Given the description of an element on the screen output the (x, y) to click on. 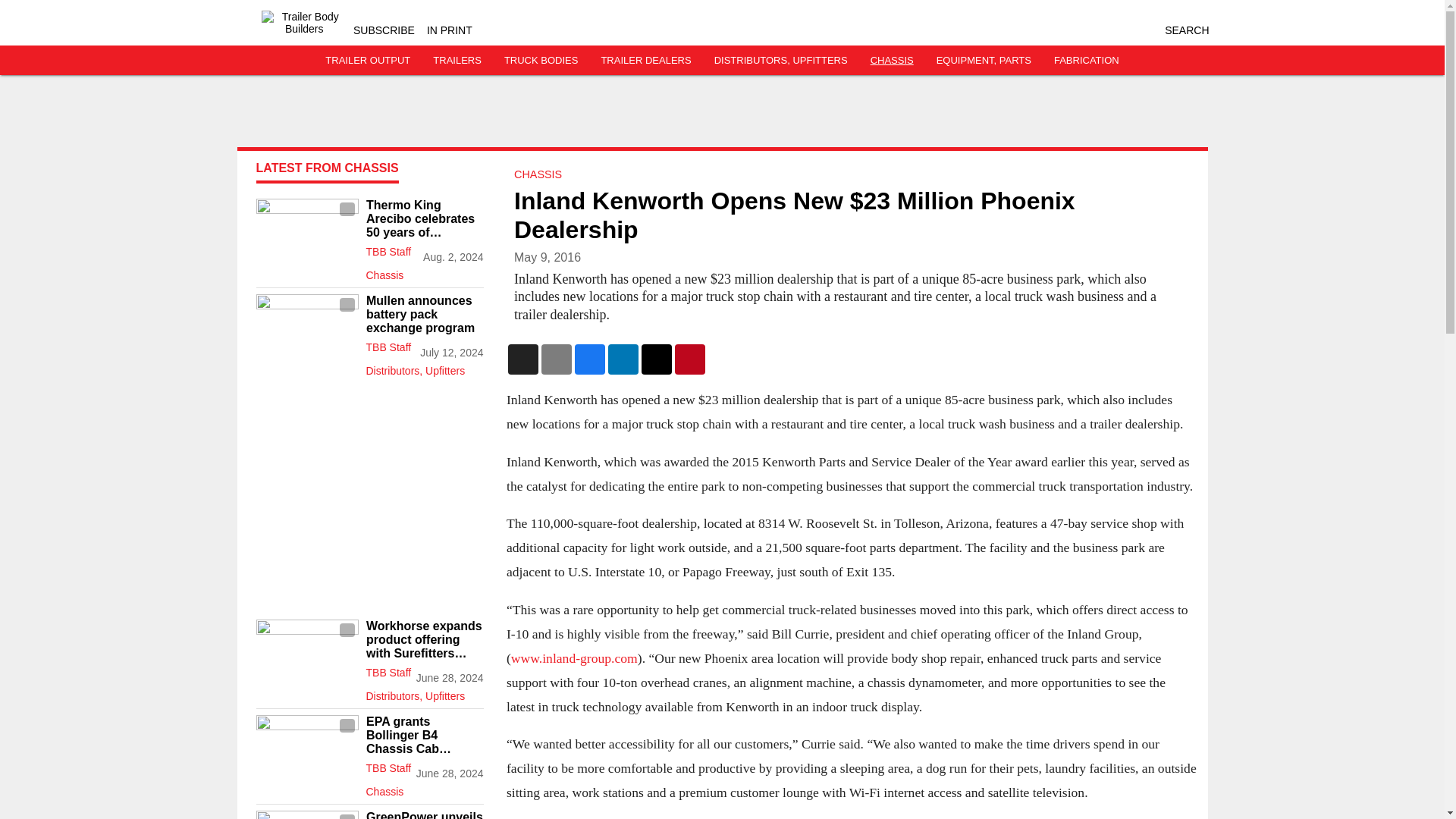
FABRICATION (1086, 60)
GreenPower unveils all-electric ReeferX (424, 814)
DISTRIBUTORS, UPFITTERS (780, 60)
TRUCK BODIES (540, 60)
EQUIPMENT, PARTS (983, 60)
TBB Staff (387, 251)
Distributors, Upfitters (424, 367)
Distributors, Upfitters (424, 692)
IN PRINT (448, 30)
